Given the description of an element on the screen output the (x, y) to click on. 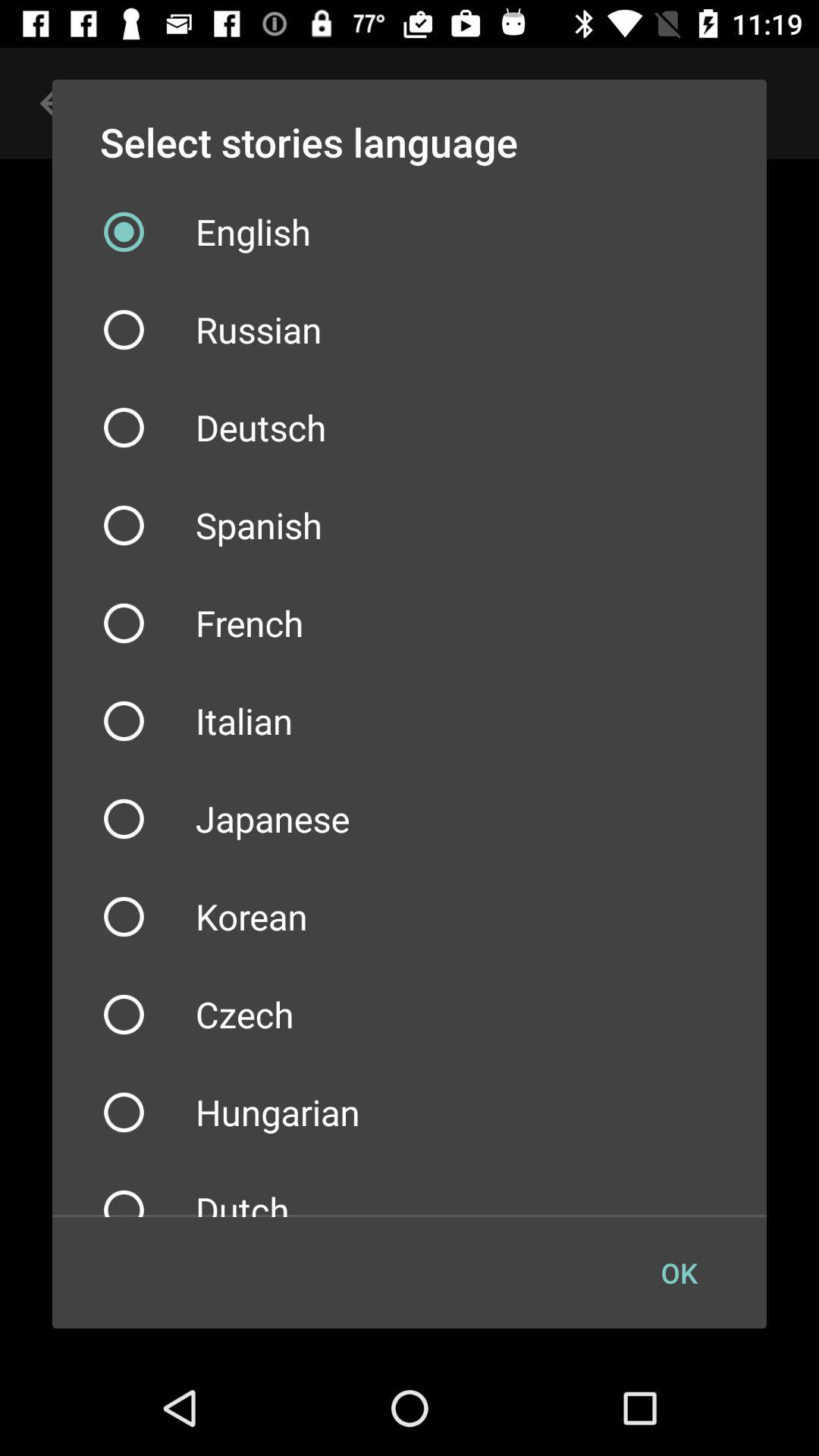
turn off the icon below the dutch icon (678, 1272)
